Given the description of an element on the screen output the (x, y) to click on. 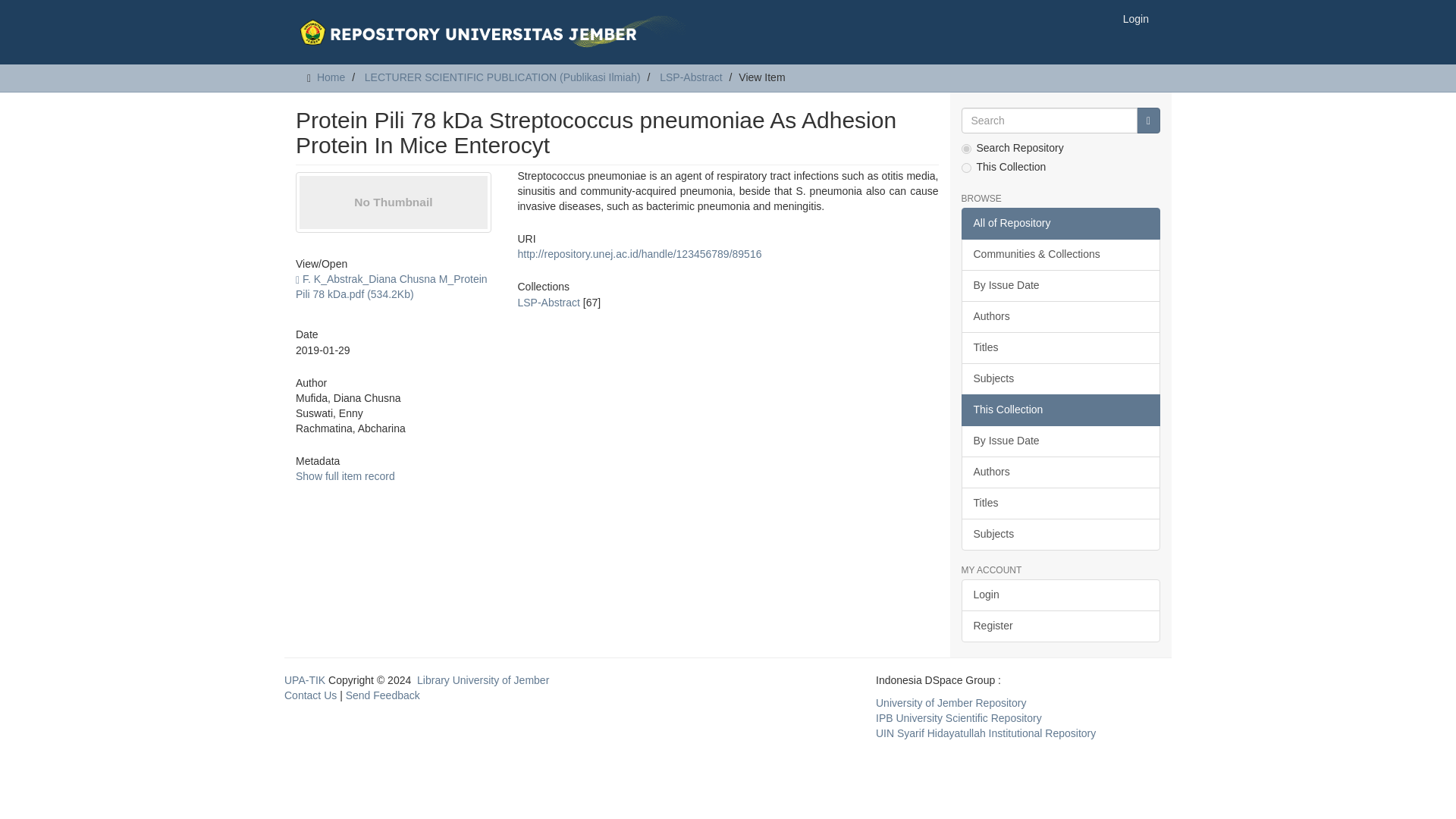
Authors (1060, 316)
Titles (1060, 347)
Show full item record (344, 476)
By Issue Date (1060, 441)
Subjects (1060, 378)
Register (1060, 626)
LSP-Abstract (547, 302)
Login (1136, 18)
This Collection (1060, 409)
Authors (1060, 472)
By Issue Date (1060, 286)
All of Repository (1060, 223)
Login (1060, 594)
Titles (1060, 503)
LSP-Abstract (690, 77)
